Given the description of an element on the screen output the (x, y) to click on. 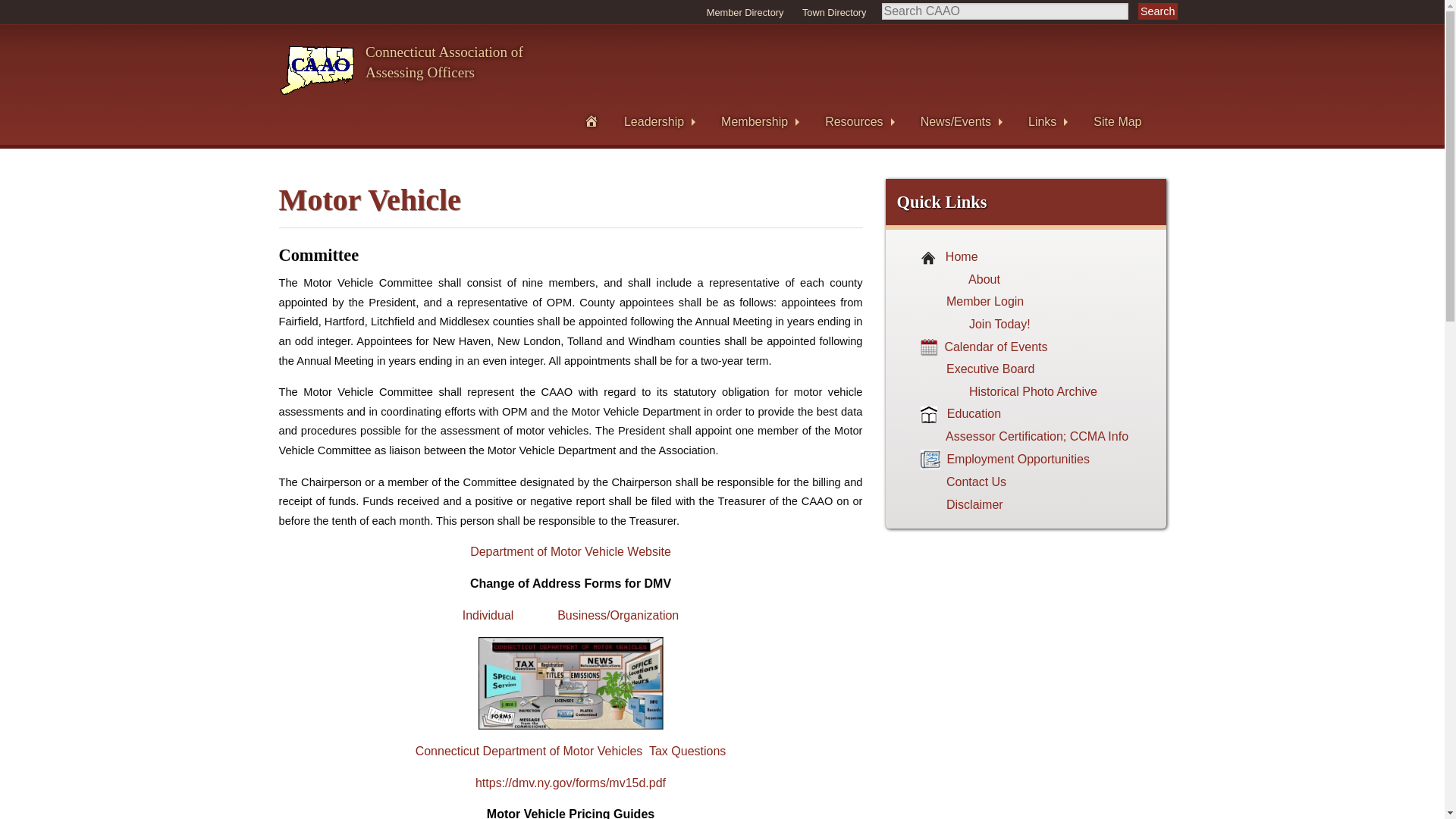
Town Directory (834, 12)
Search (1157, 11)
Leadership (659, 121)
Resources (400, 69)
Member Directory (859, 121)
Membership (745, 12)
